Given the description of an element on the screen output the (x, y) to click on. 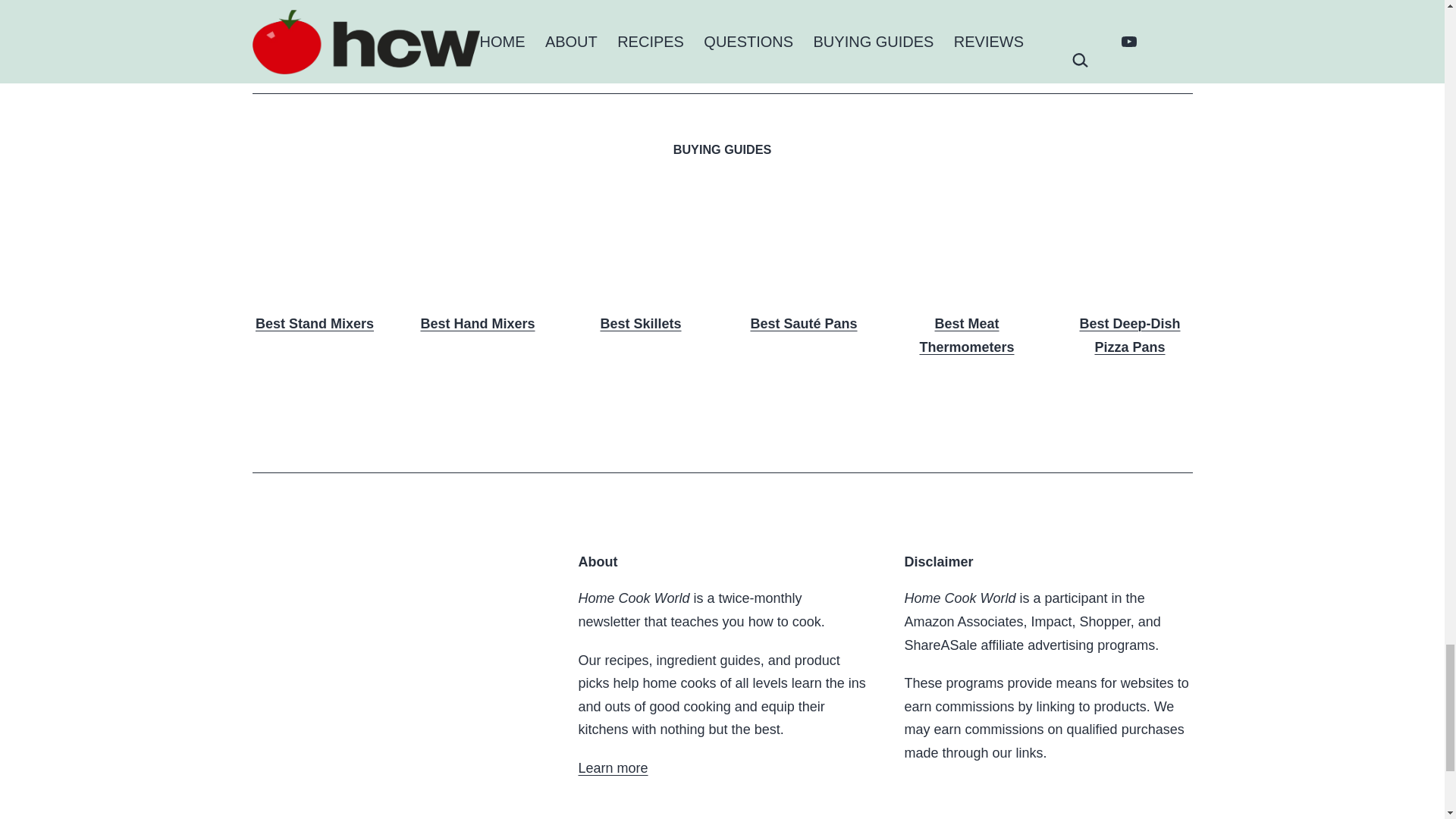
Best Stand Mixers (314, 265)
Best Hand Mixers (477, 265)
Best Skillets (640, 265)
Best Deep-Dish Pizza Pans (1129, 276)
Learn more (612, 767)
Best Meat Thermometers (966, 276)
